Given the description of an element on the screen output the (x, y) to click on. 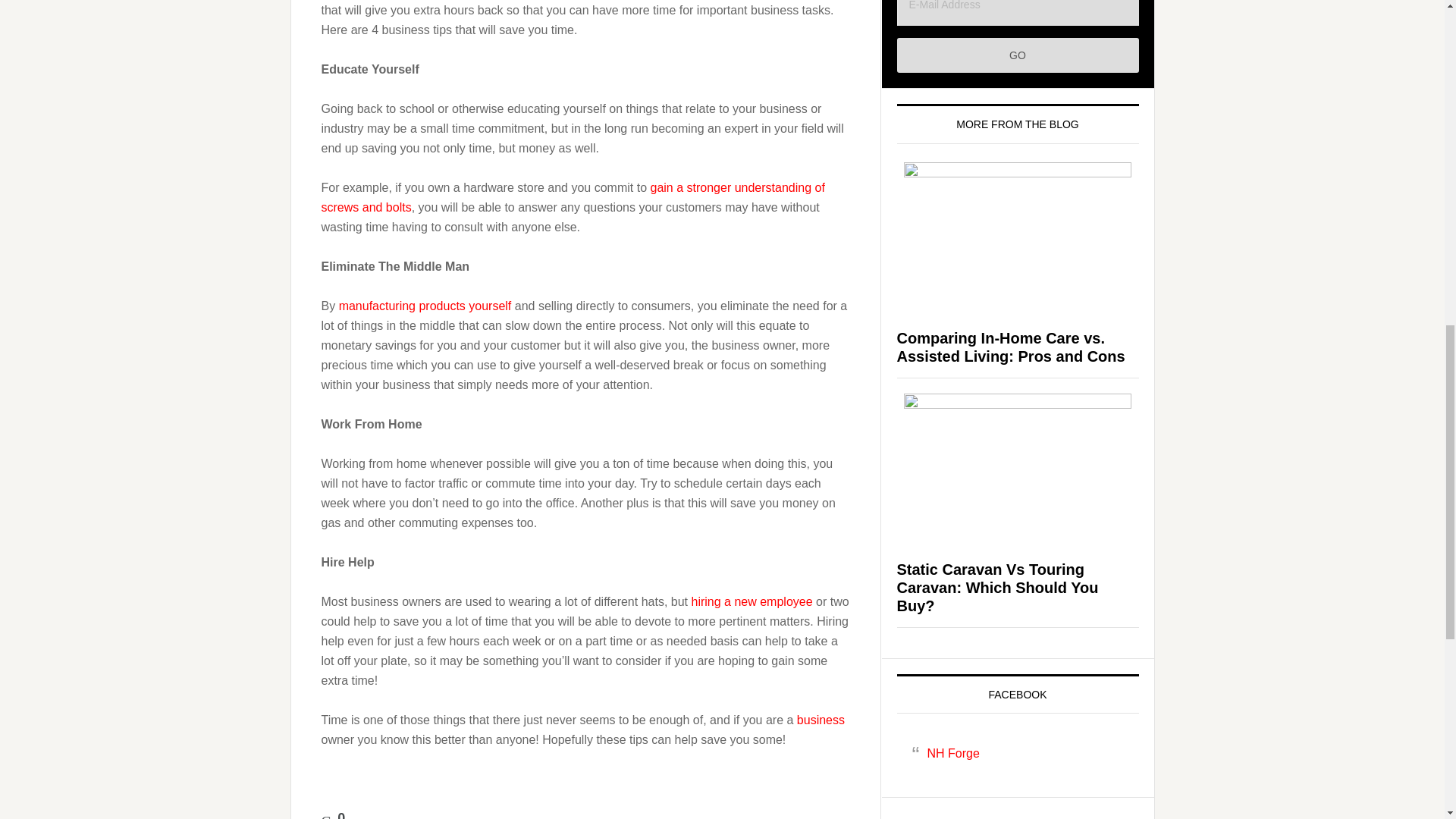
Static Caravan Vs Touring Caravan: Which Should You Buy? (996, 587)
NH Forge (952, 753)
manufacturing products yourself (427, 305)
gain a stronger understanding of screws and bolts (573, 196)
hiring a new employee (751, 601)
Comparing In-Home Care vs. Assisted Living: Pros and Cons (1010, 347)
Go (1017, 54)
business (820, 719)
Go (1017, 54)
